Given the description of an element on the screen output the (x, y) to click on. 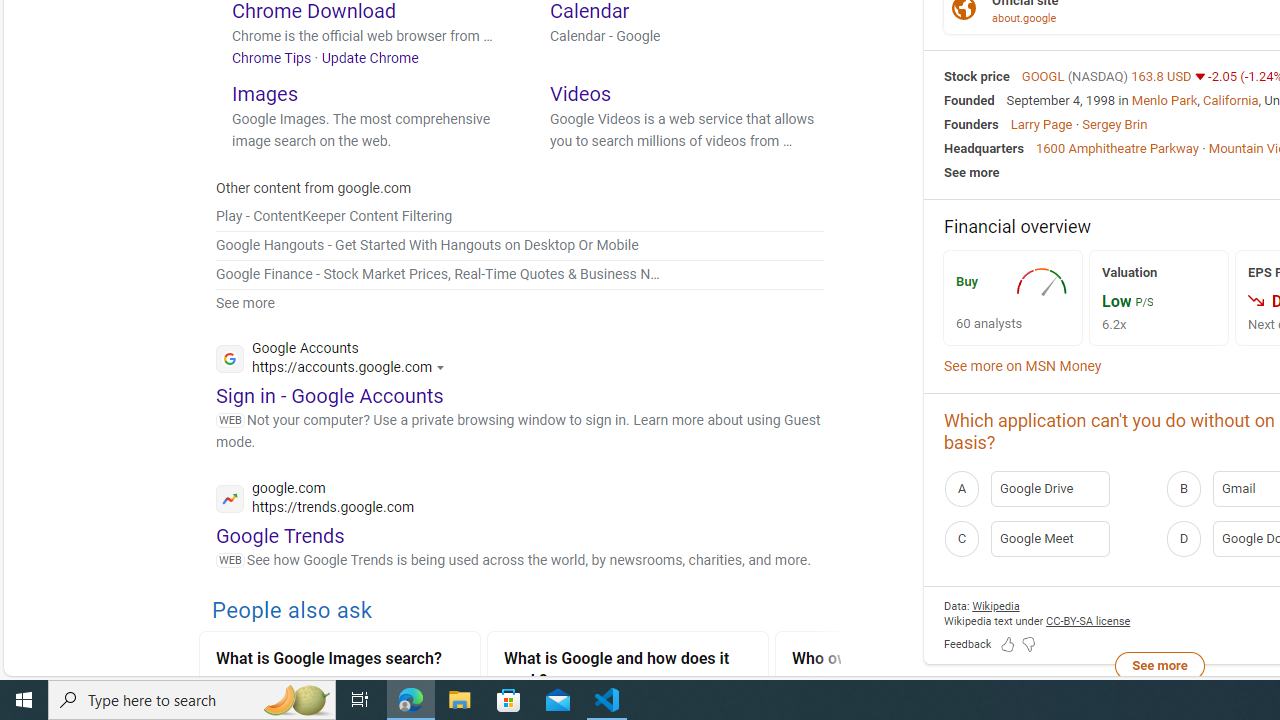
C Google Meet (1049, 538)
Founded (969, 100)
Stock price (976, 75)
What is Google and how does it work? (628, 671)
Valuation Low P/S 6.2x (1158, 296)
AutomationID: recImg (1043, 281)
Sergey Brin (1114, 123)
Videos (580, 92)
CC-BY-SA license (1088, 620)
Who owns Google? (915, 660)
